Given the description of an element on the screen output the (x, y) to click on. 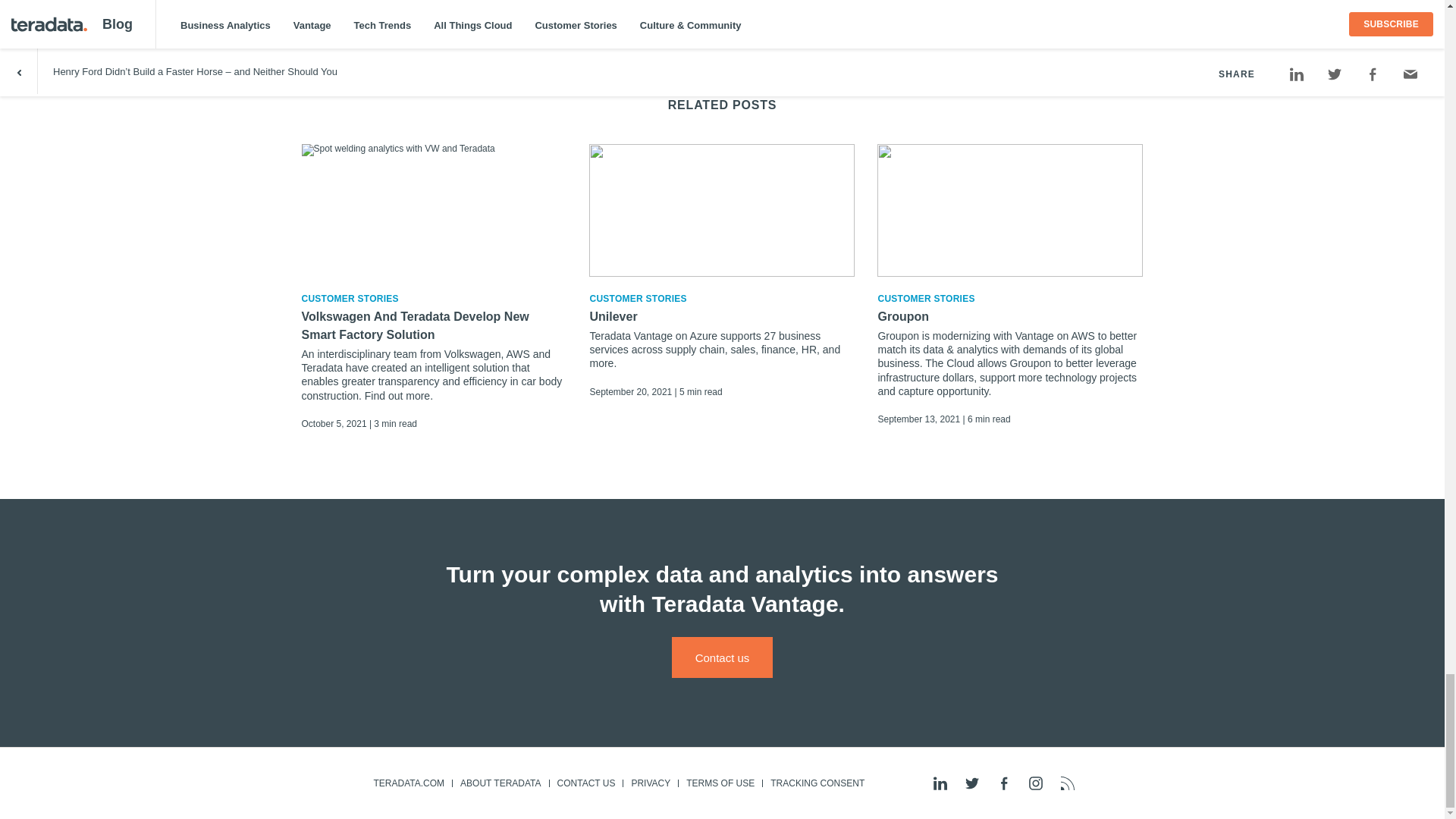
Groupon (1009, 316)
TERADATA.COM (408, 783)
ABOUT TERADATA (499, 783)
Unilever (721, 316)
Spot welding analytics with VW and Teradata (434, 210)
Open the Teradata Web Tracking Consent Center (816, 783)
CONTACT US (585, 783)
Volkswagen And Teradata Develop New Smart Factory Solution (434, 325)
Contact us (722, 657)
